Given the description of an element on the screen output the (x, y) to click on. 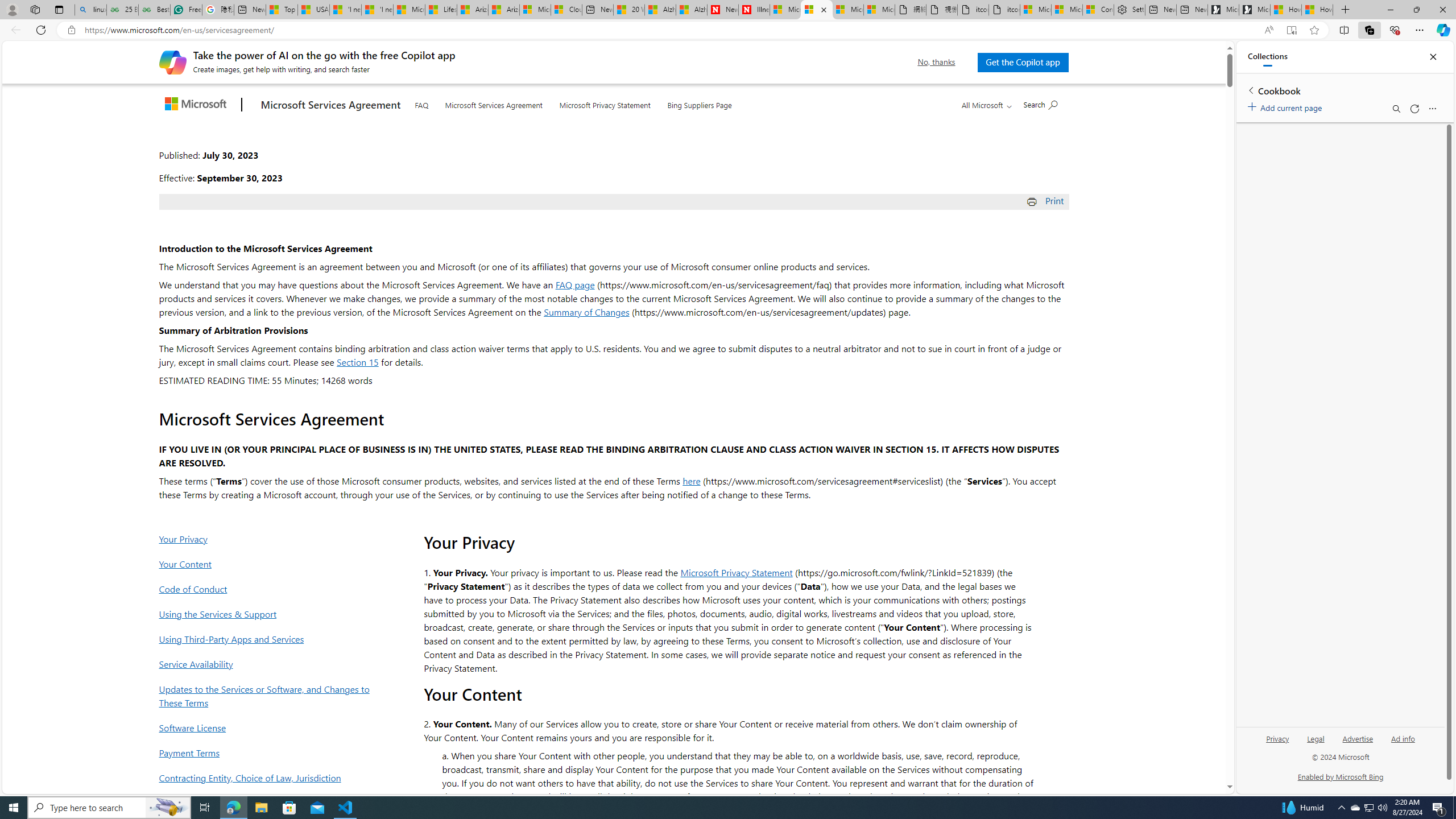
FAQ (421, 103)
Microsoft account | Privacy (1066, 9)
Print (1046, 200)
Bing Suppliers Page (699, 103)
itconcepthk.com/projector_solutions.mp4 (1004, 9)
FAQ page (574, 284)
25 Basic Linux Commands For Beginners - GeeksforGeeks (121, 9)
Cloud Computing Services | Microsoft Azure (566, 9)
FAQ (421, 103)
